Given the description of an element on the screen output the (x, y) to click on. 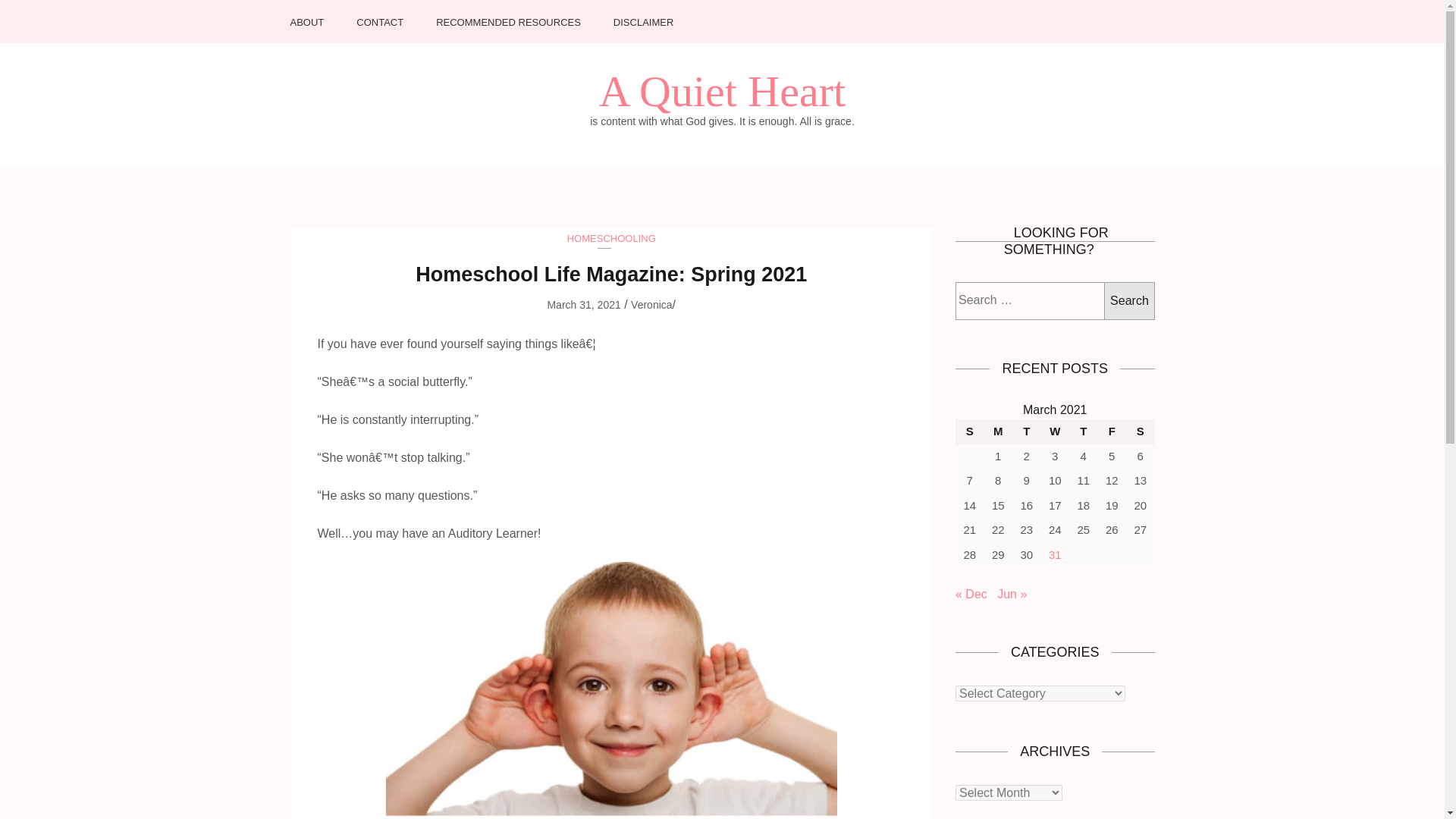
HOMESCHOOLING (611, 238)
A Quiet Heart (721, 91)
CONTACT (379, 29)
Veronica (650, 304)
Search (1128, 300)
RECOMMENDED RESOURCES (507, 29)
Monday (998, 431)
Search (1128, 300)
Thursday (1082, 431)
March 31, 2021 (583, 304)
Tuesday (1026, 431)
Sunday (969, 431)
31 (1054, 554)
Friday (1111, 431)
Wednesday (1054, 431)
